Given the description of an element on the screen output the (x, y) to click on. 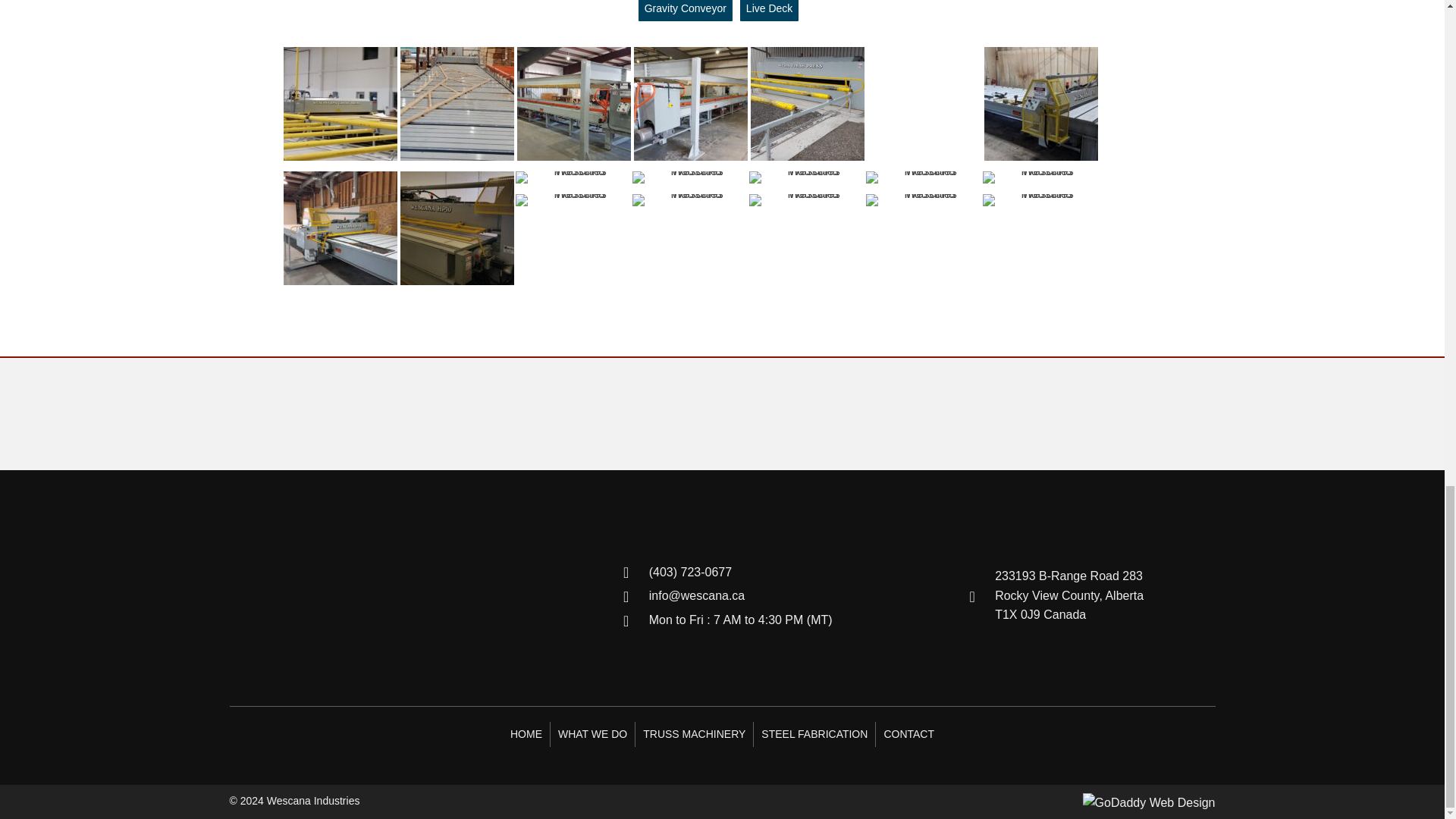
STEEL FABRICATION (814, 733)
TRUSS MACHINERY (693, 733)
HOME (526, 733)
WHAT WE DO (592, 733)
CONTACT (909, 733)
0001 (323, 595)
